Given the description of an element on the screen output the (x, y) to click on. 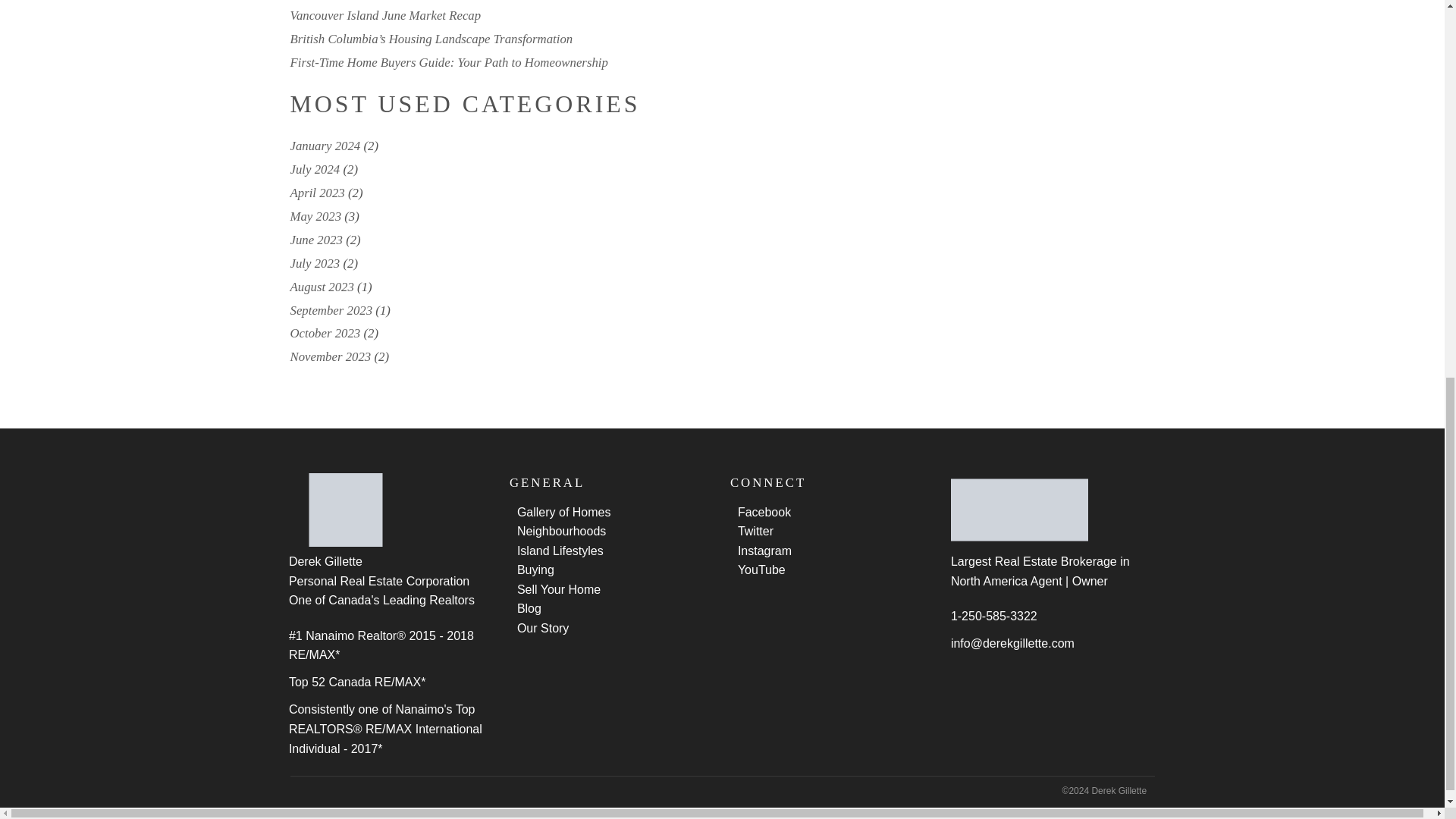
September 2023 (330, 310)
May 2023 (314, 216)
July 2023 (314, 263)
First-Time Home Buyers Guide: Your Path to Homeownership (448, 62)
October 2023 (324, 332)
July 2024 (314, 169)
April 2023 (316, 192)
June 2023 (315, 239)
August 2023 (321, 287)
Vancouver Island June Market Recap (384, 15)
January 2024 (324, 145)
